Given the description of an element on the screen output the (x, y) to click on. 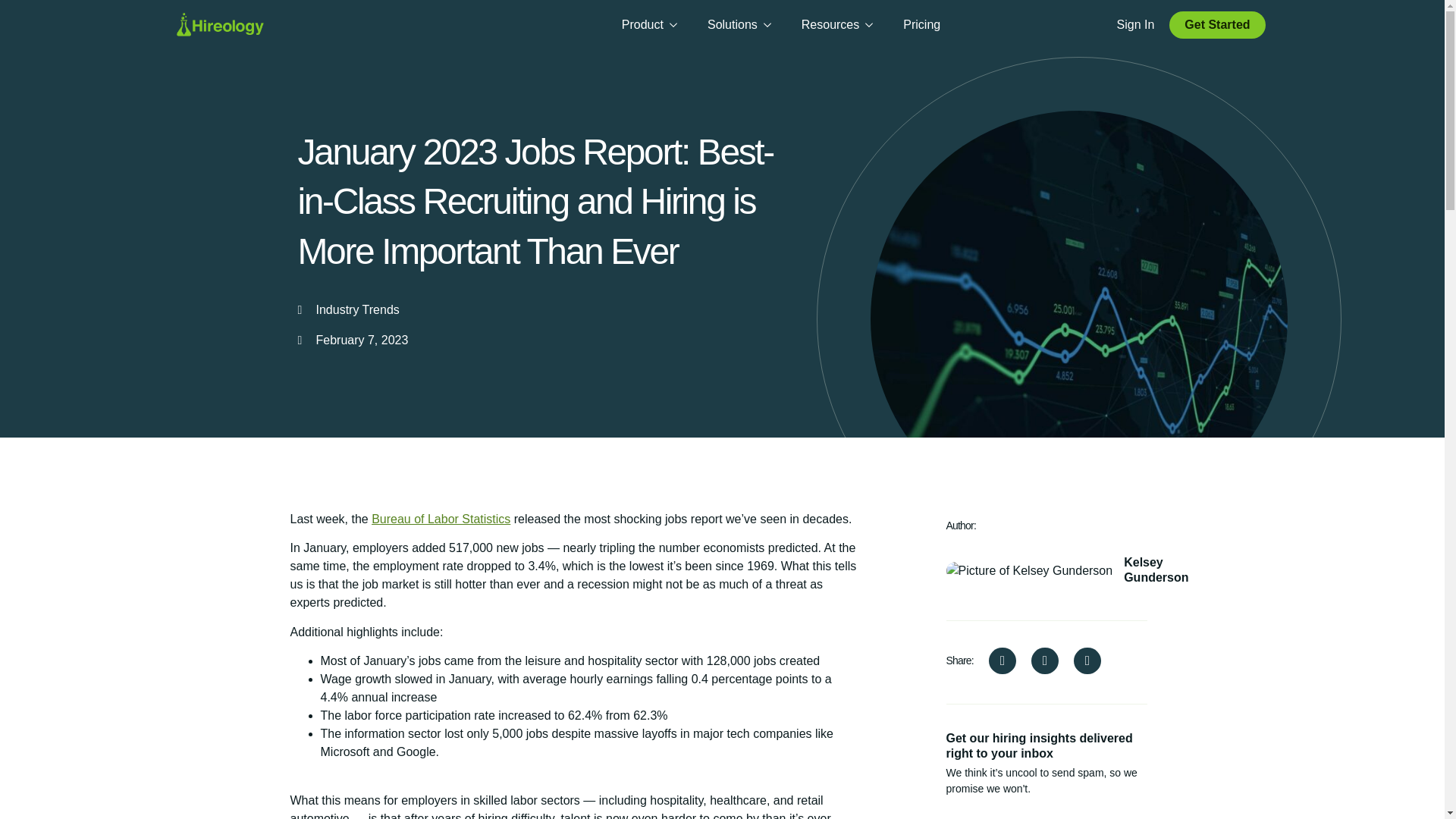
Get Started (1217, 24)
Sign In (1135, 24)
Pricing (921, 24)
